Given the description of an element on the screen output the (x, y) to click on. 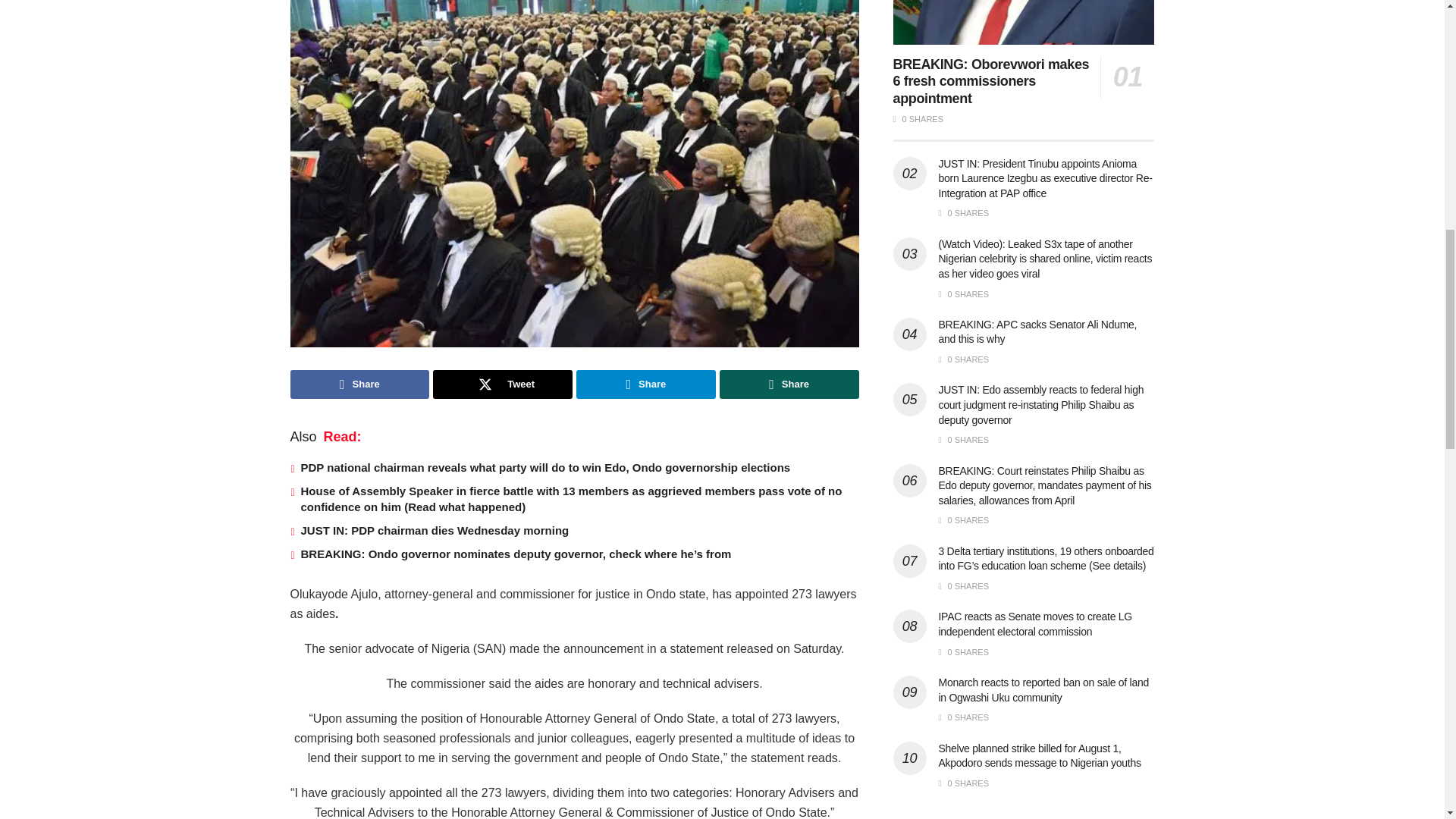
Share (646, 384)
Share (359, 384)
Tweet (502, 384)
Share (789, 384)
